Given the description of an element on the screen output the (x, y) to click on. 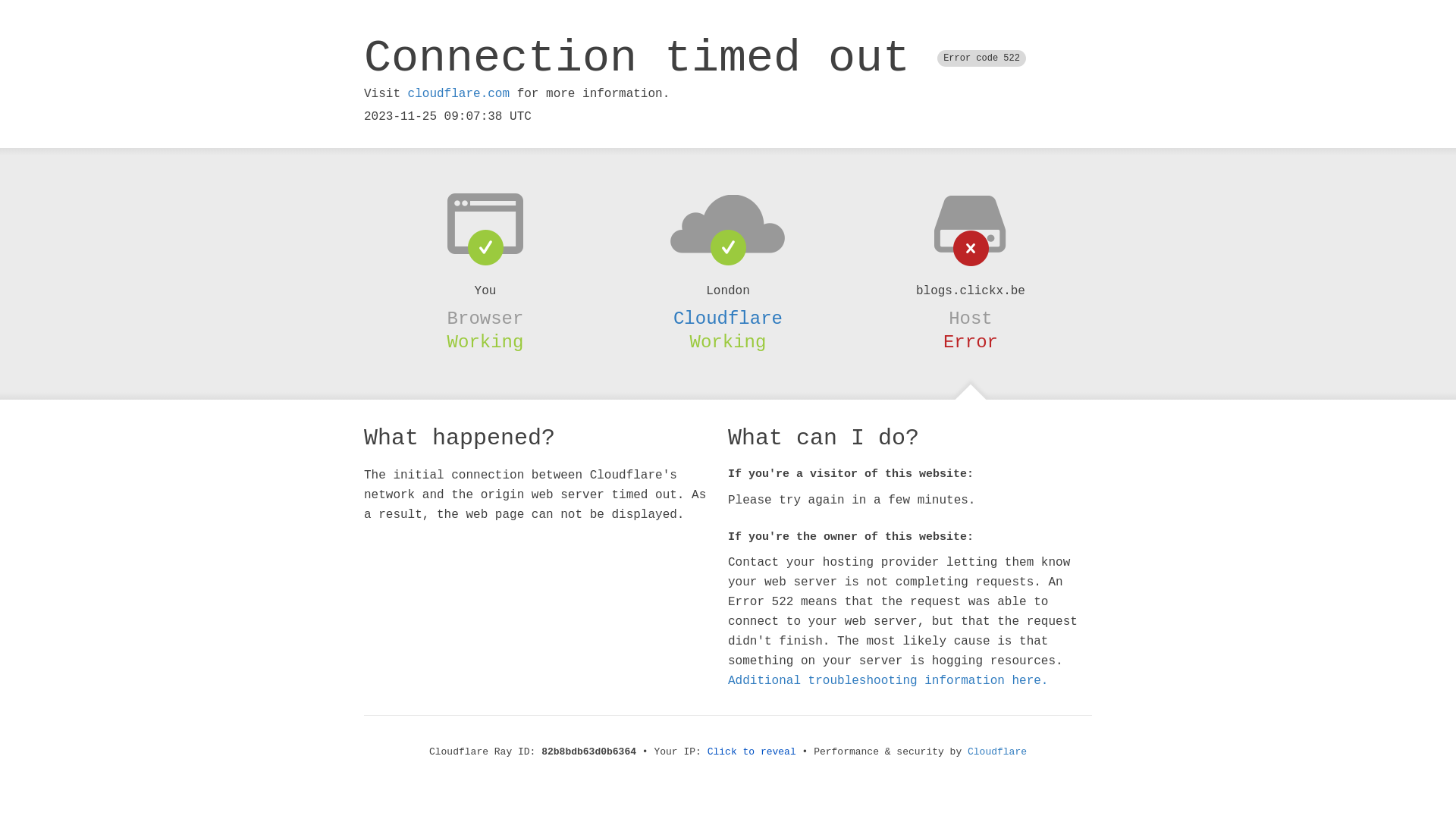
cloudflare.com Element type: text (458, 93)
Click to reveal Element type: text (751, 751)
Cloudflare Element type: text (996, 751)
Cloudflare Element type: text (727, 318)
Additional troubleshooting information here. Element type: text (888, 680)
